Given the description of an element on the screen output the (x, y) to click on. 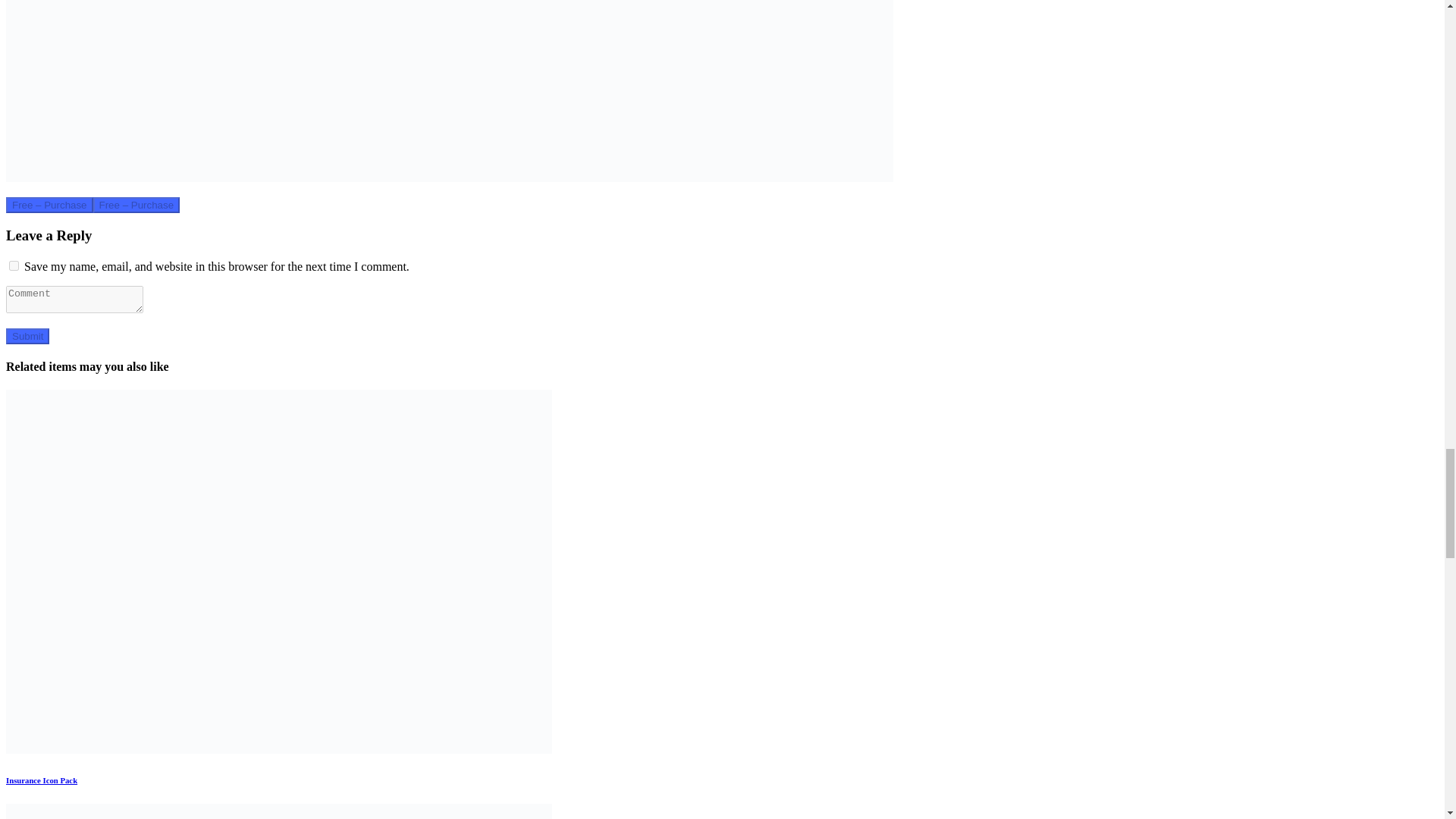
yes (13, 266)
